Given the description of an element on the screen output the (x, y) to click on. 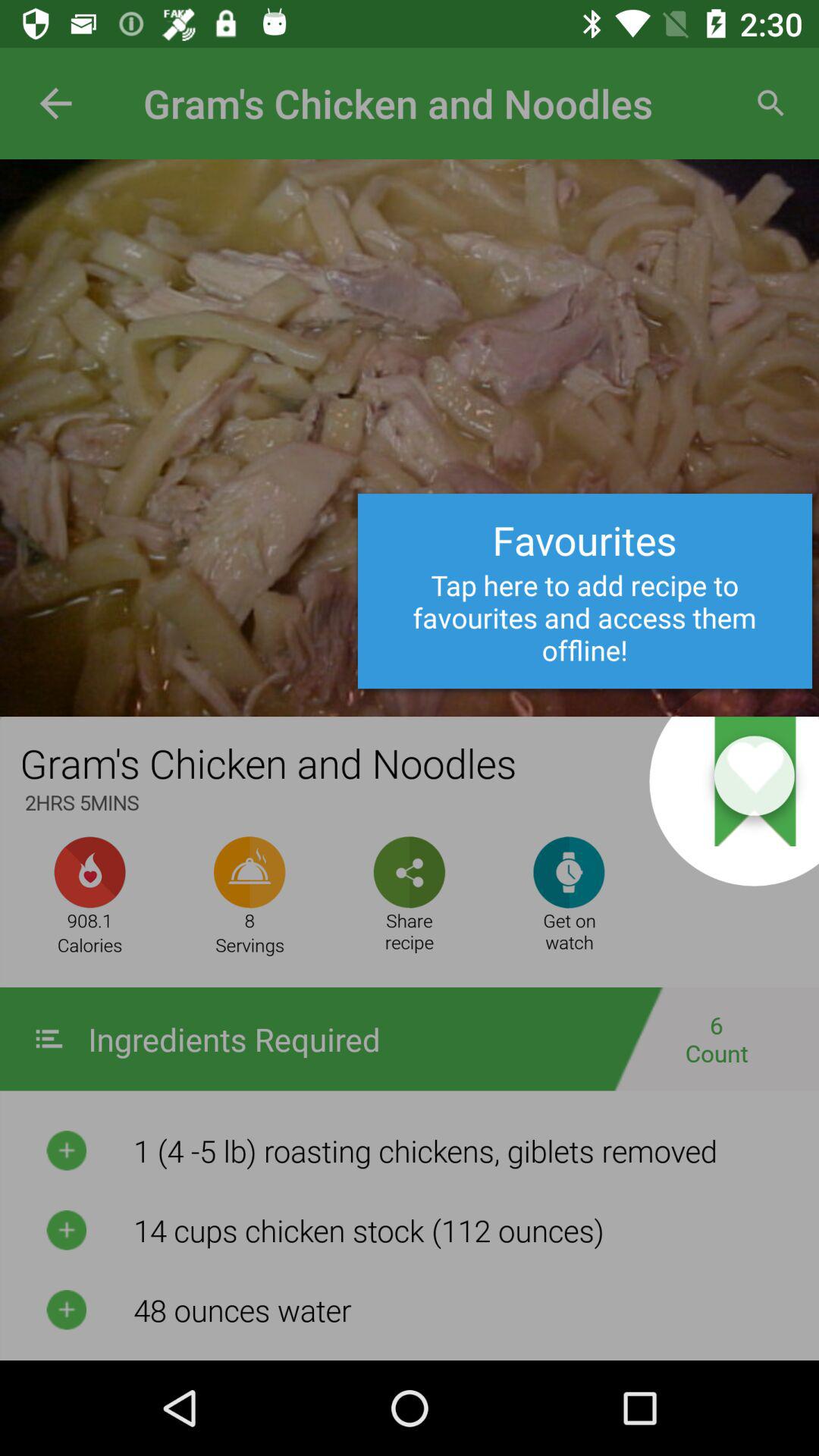
select the first text below the ingredients required (466, 1150)
